Given the description of an element on the screen output the (x, y) to click on. 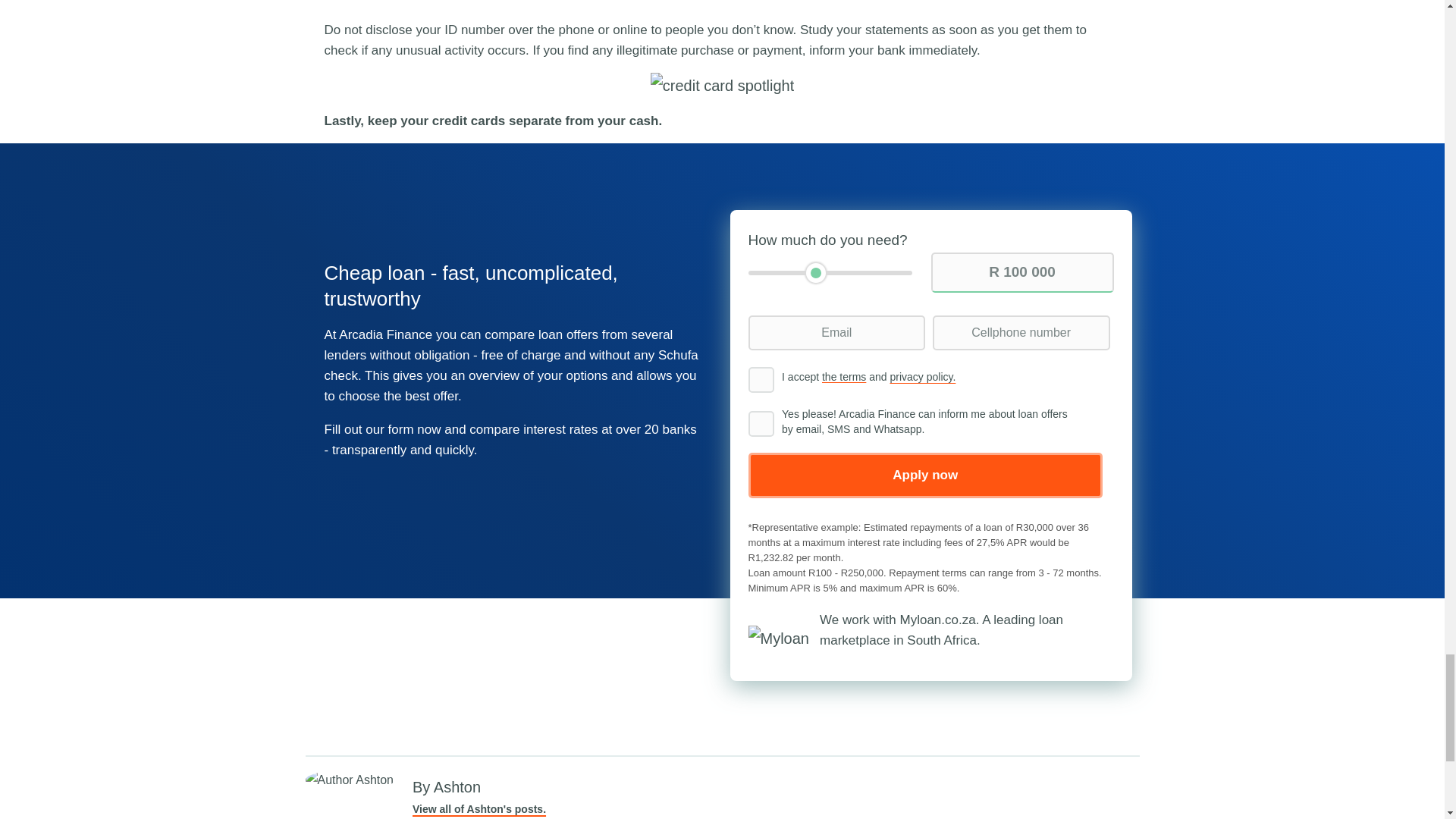
on (760, 379)
privacy policy. (922, 377)
100000 (830, 273)
Apply now (925, 474)
on (760, 423)
View all of Ashton's posts. (478, 808)
Apply now (925, 474)
